Given the description of an element on the screen output the (x, y) to click on. 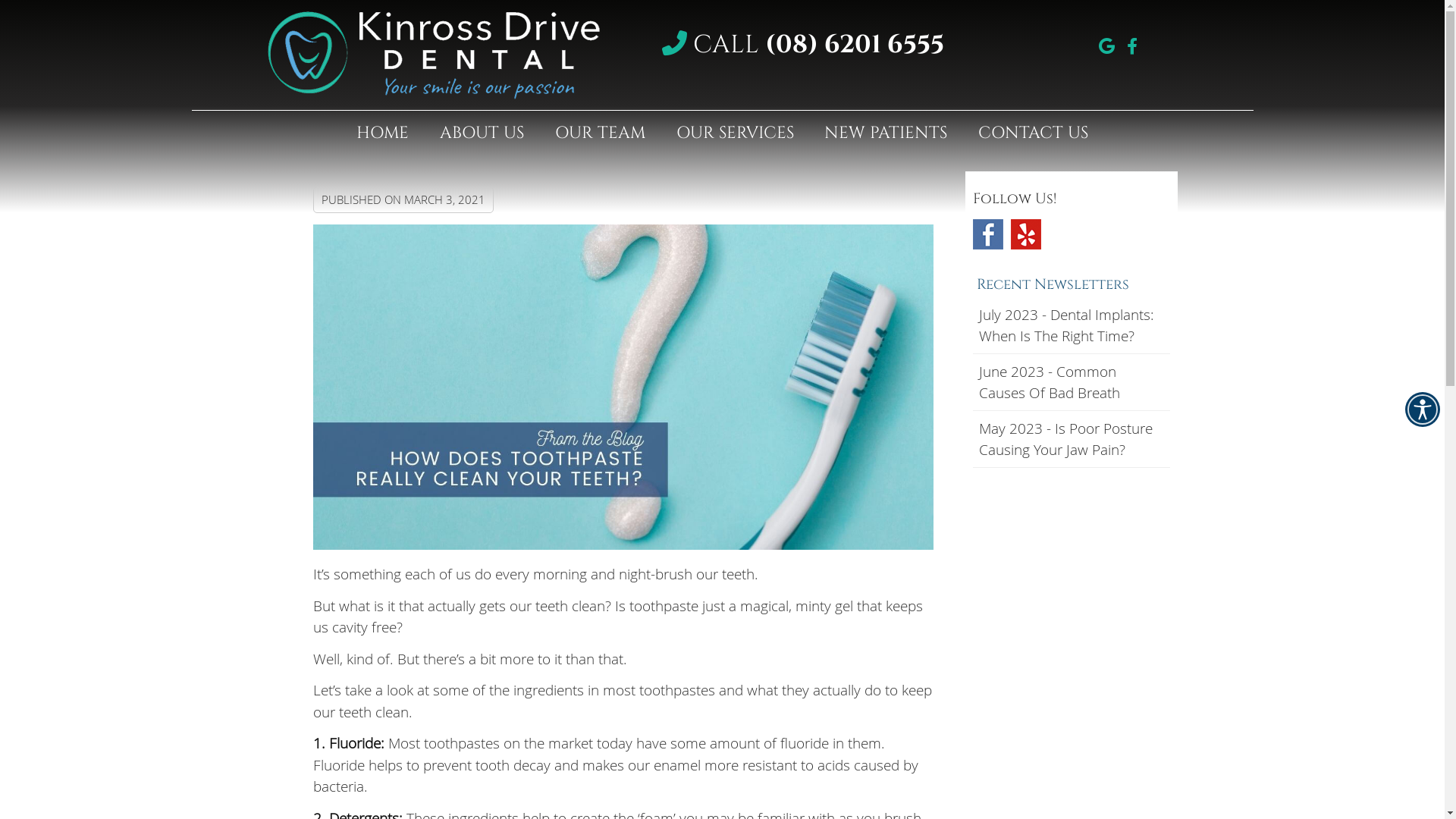
OUR SERVICES Element type: text (735, 133)
June 2023 - Common Causes Of Bad Breath Element type: text (1070, 382)
CONTACT US Element type: text (1033, 133)
Kinross Drive Dental Element type: text (432, 93)
July 2023 - Dental Implants: When Is The Right Time? Element type: text (1070, 325)
Yelp Social Link Element type: text (1025, 234)
facebook icon link Element type: text (1131, 44)
Facebook Social Link Element type: text (987, 234)
OUR TEAM Element type: text (600, 133)
ABOUT US Element type: text (481, 133)
NEW PATIENTS Element type: text (885, 133)
May 2023 - Is Poor Posture Causing Your Jaw Pain? Element type: text (1070, 439)
HOME Element type: text (382, 133)
google icon link Element type: text (1106, 44)
